Given the description of an element on the screen output the (x, y) to click on. 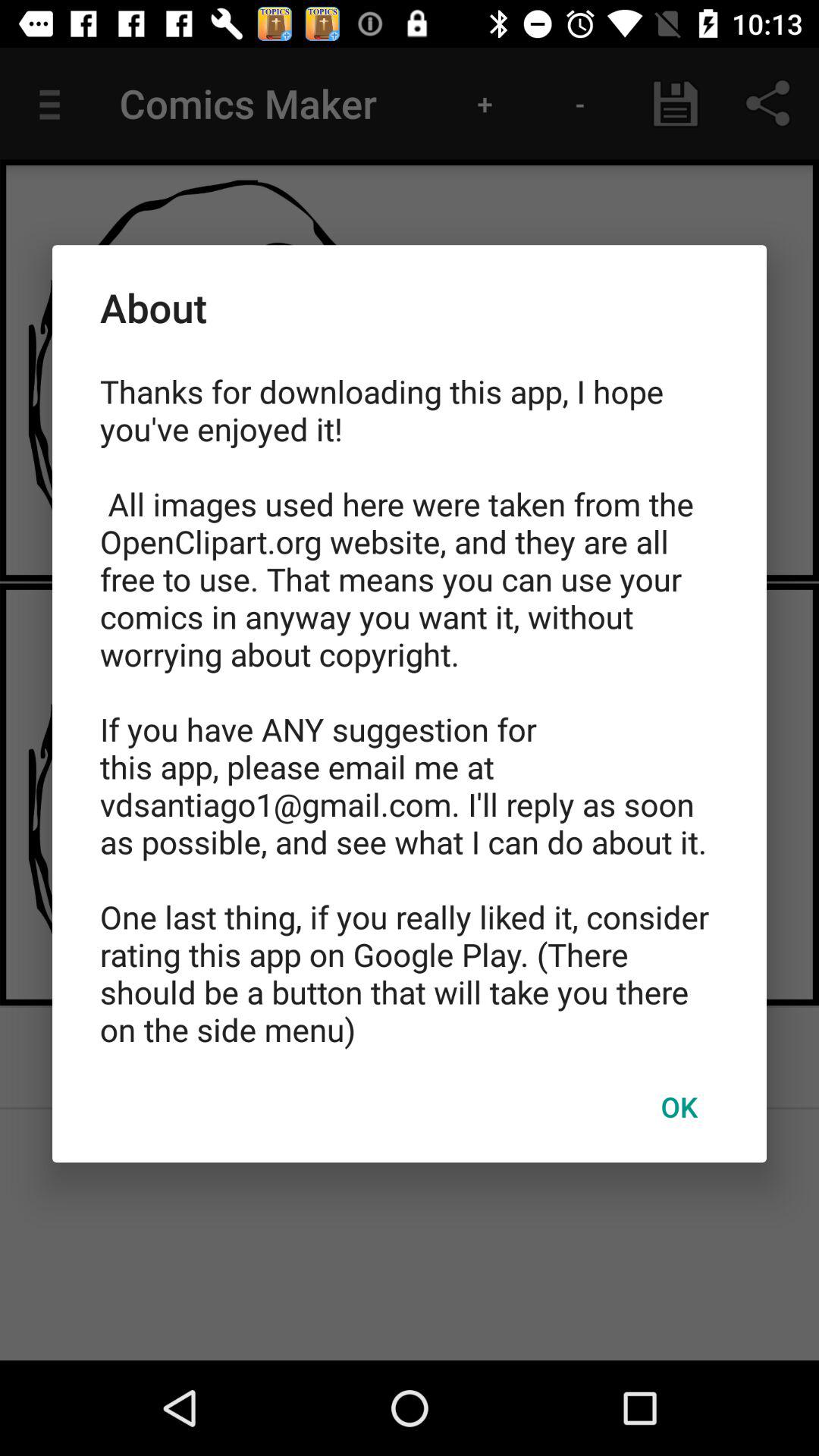
jump to the ok button (678, 1106)
